Given the description of an element on the screen output the (x, y) to click on. 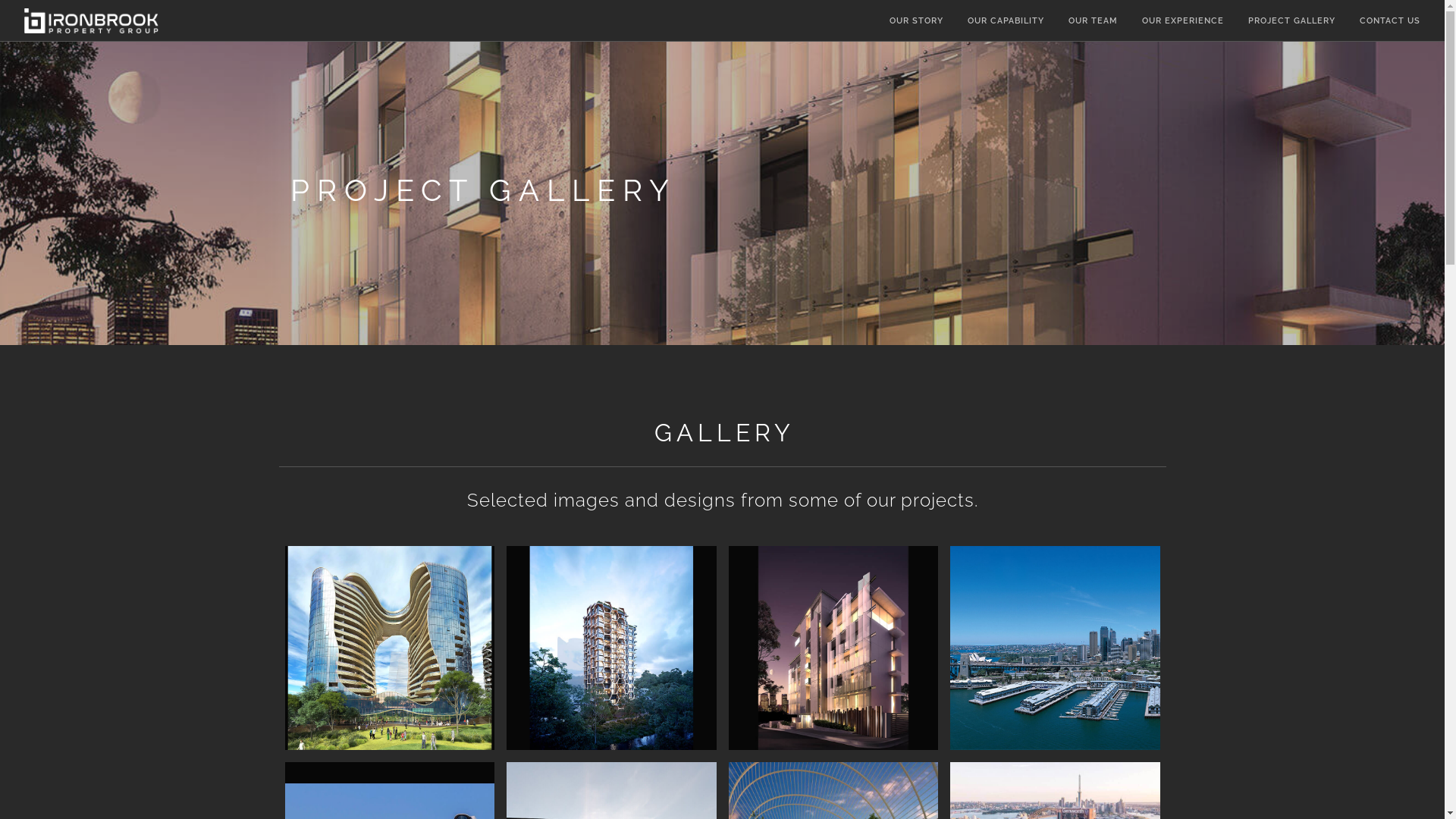
PROJECT GALLERY Element type: text (1291, 21)
OUR TEAM Element type: text (1092, 21)
OUR STORY Element type: text (916, 21)
OUR CAPABILITY Element type: text (1005, 21)
OUR EXPERIENCE Element type: text (1182, 21)
CONTACT US Element type: text (1389, 21)
